Given the description of an element on the screen output the (x, y) to click on. 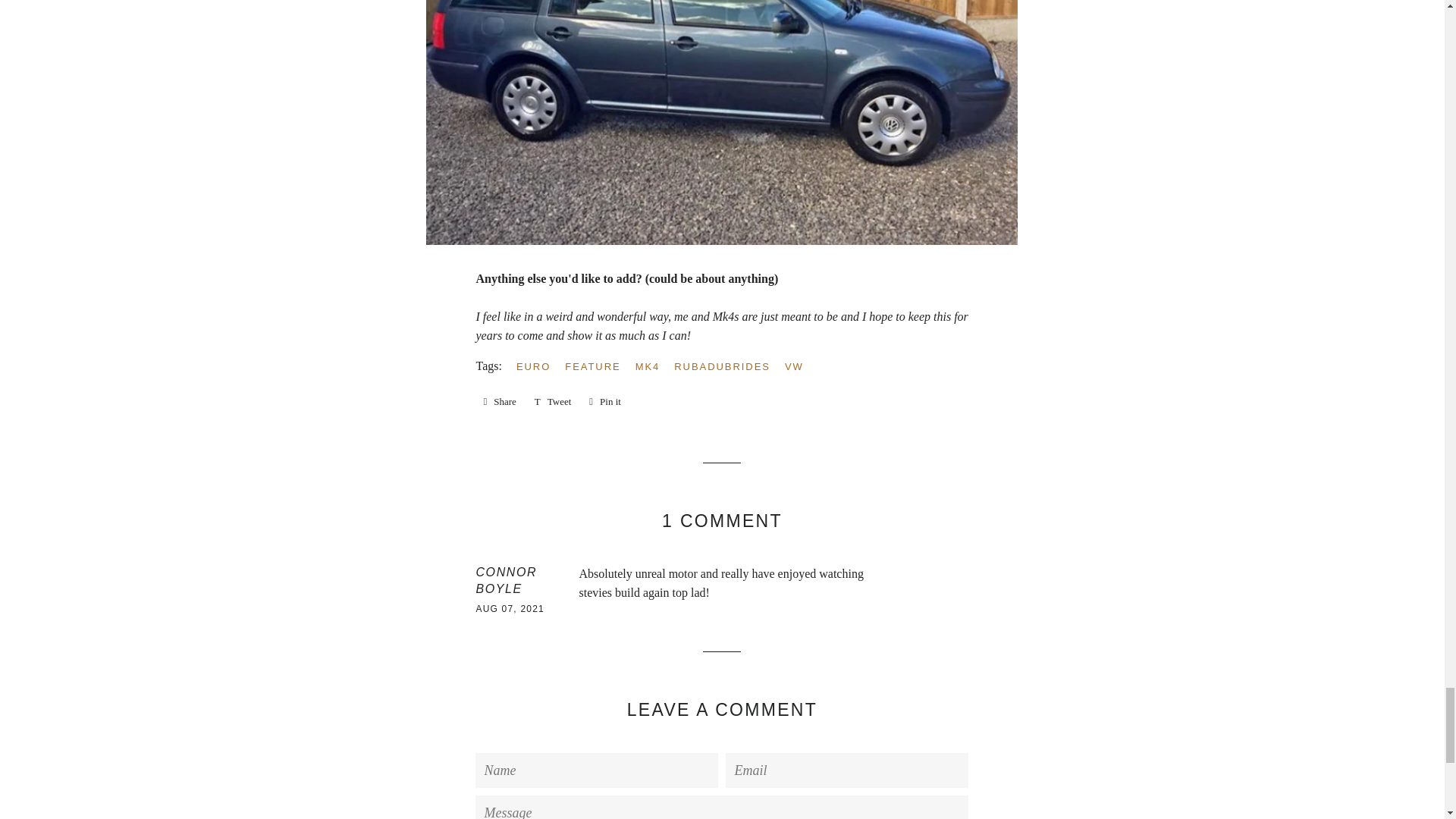
Share on Facebook (499, 401)
Pin on Pinterest (604, 401)
Tweet on Twitter (553, 401)
